Given the description of an element on the screen output the (x, y) to click on. 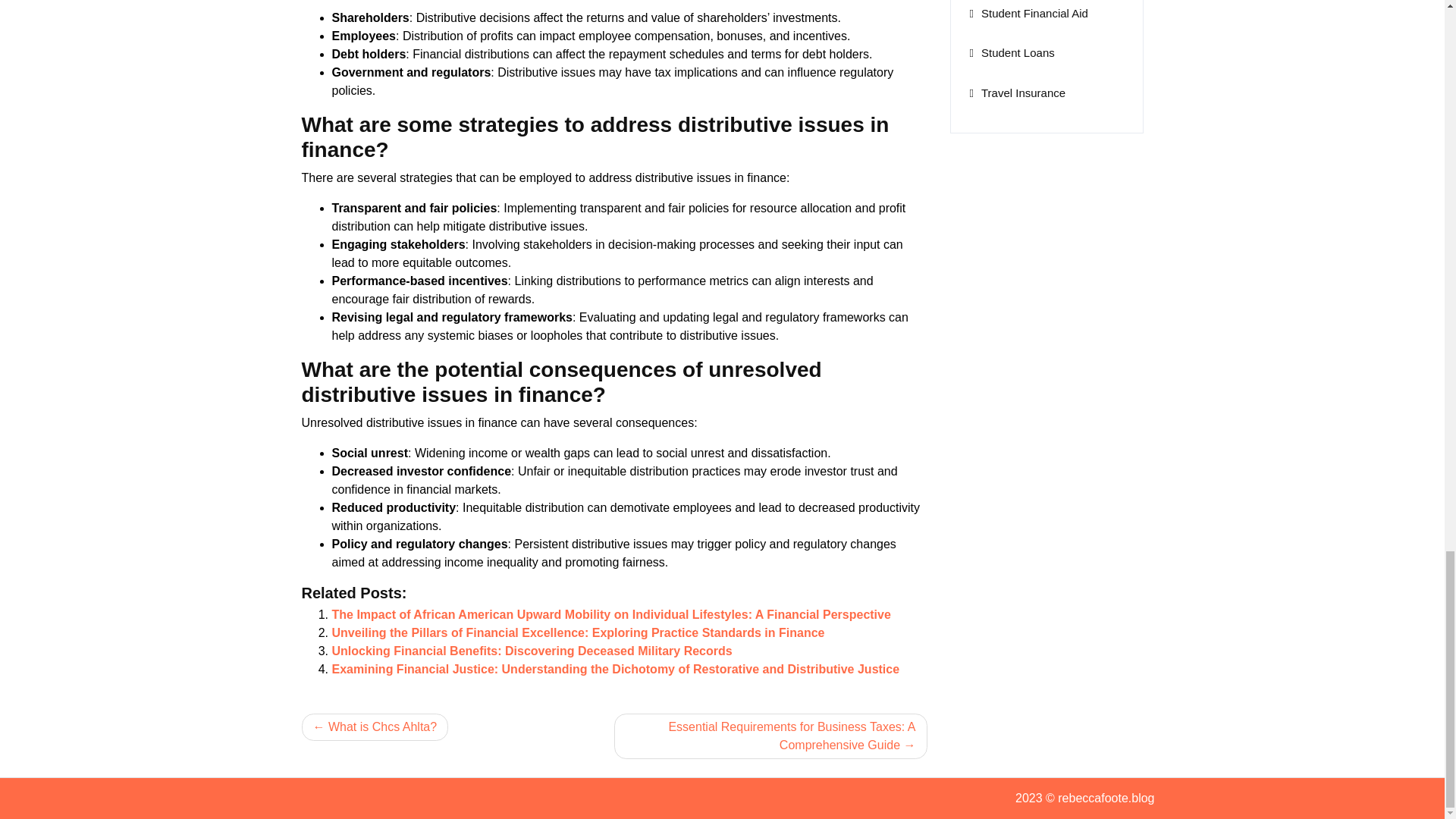
What is Chcs Ahlta? (374, 727)
